Given the description of an element on the screen output the (x, y) to click on. 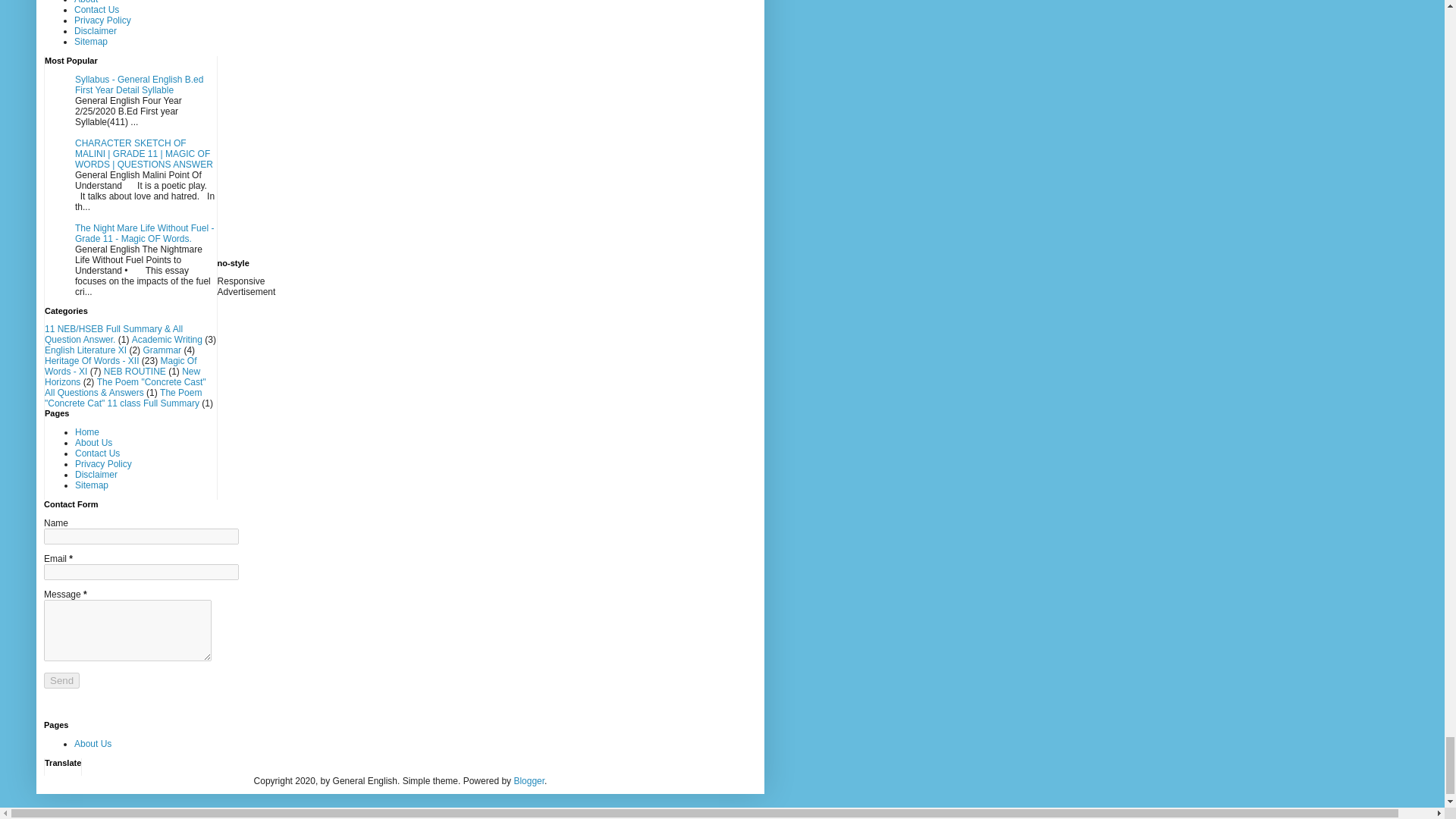
Send (61, 680)
